Given the description of an element on the screen output the (x, y) to click on. 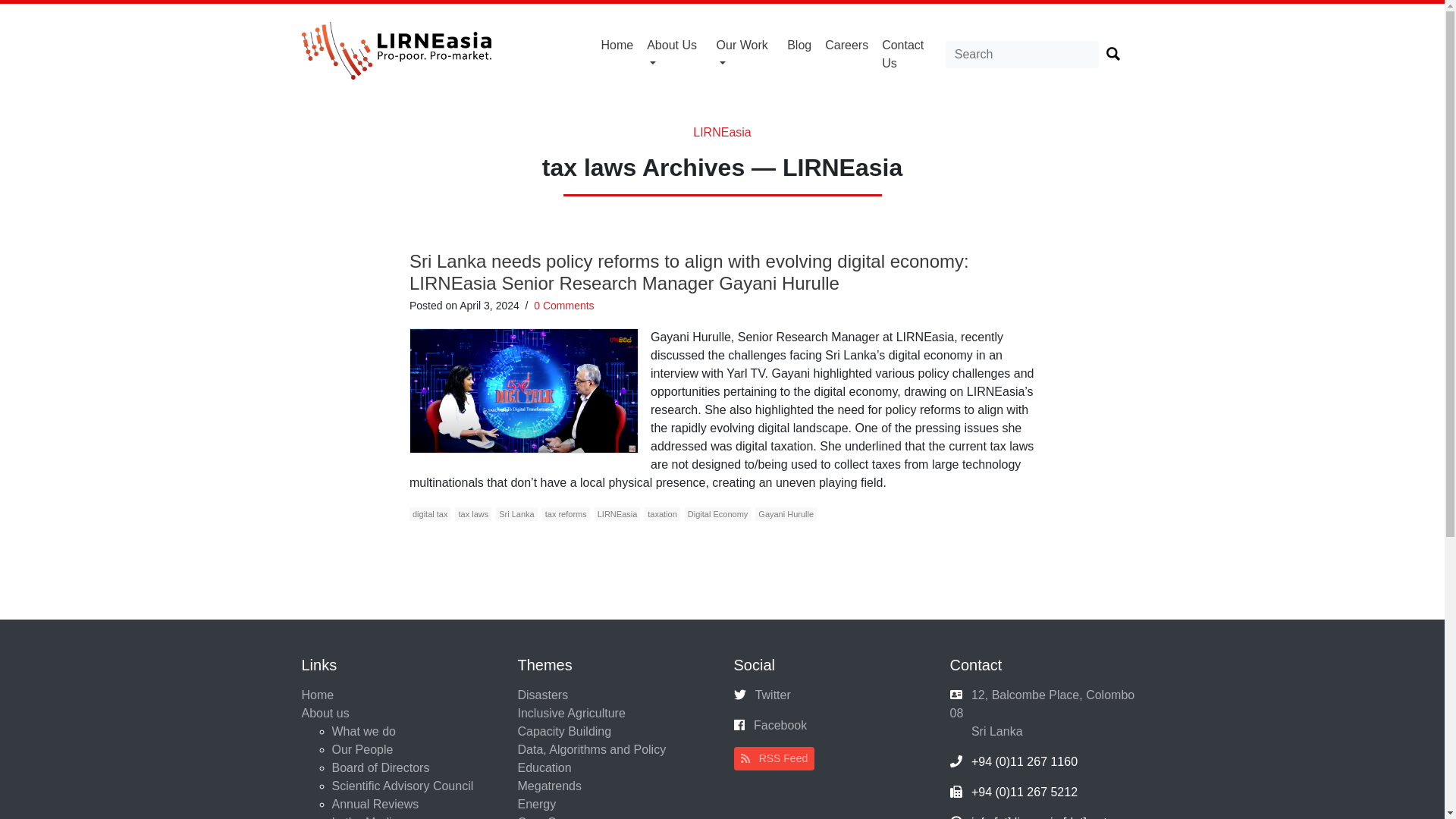
Contact us (909, 54)
Contact Us (909, 54)
0 Comments (564, 305)
About Us (674, 54)
Home (617, 45)
Home (617, 45)
Blog (799, 45)
Our Work (745, 54)
Our Work (745, 54)
About us (674, 54)
LIRNEasia (722, 132)
Search for: (1021, 53)
Careers (846, 45)
Blog (799, 45)
